Given the description of an element on the screen output the (x, y) to click on. 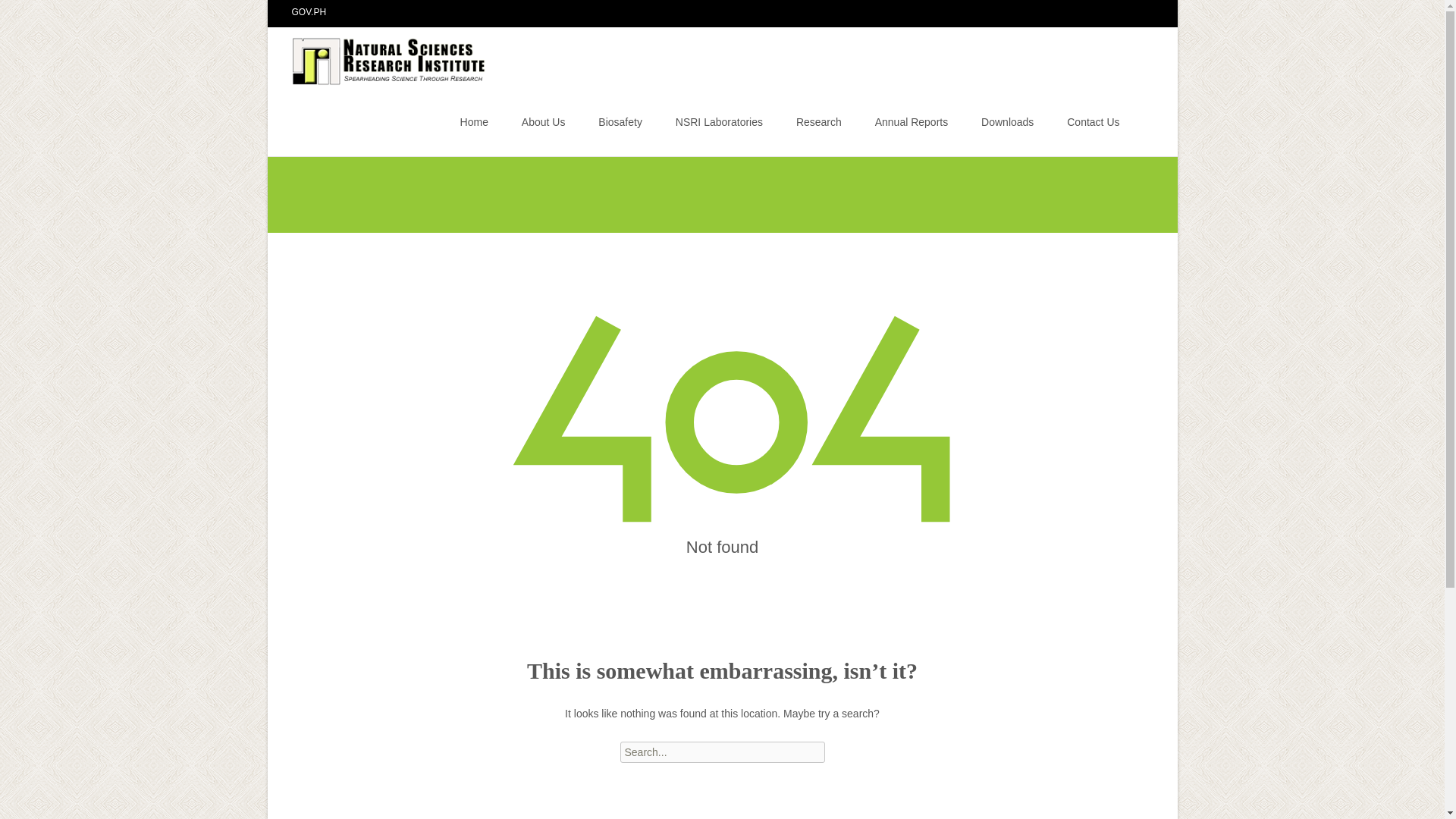
NSRI Laboratories (718, 121)
Search (18, 14)
Natural Sciences Research Institute (378, 57)
GOV.PH (308, 11)
Search for: (1139, 123)
Search for: (722, 752)
Annual Reports (912, 121)
Search (34, 14)
